Given the description of an element on the screen output the (x, y) to click on. 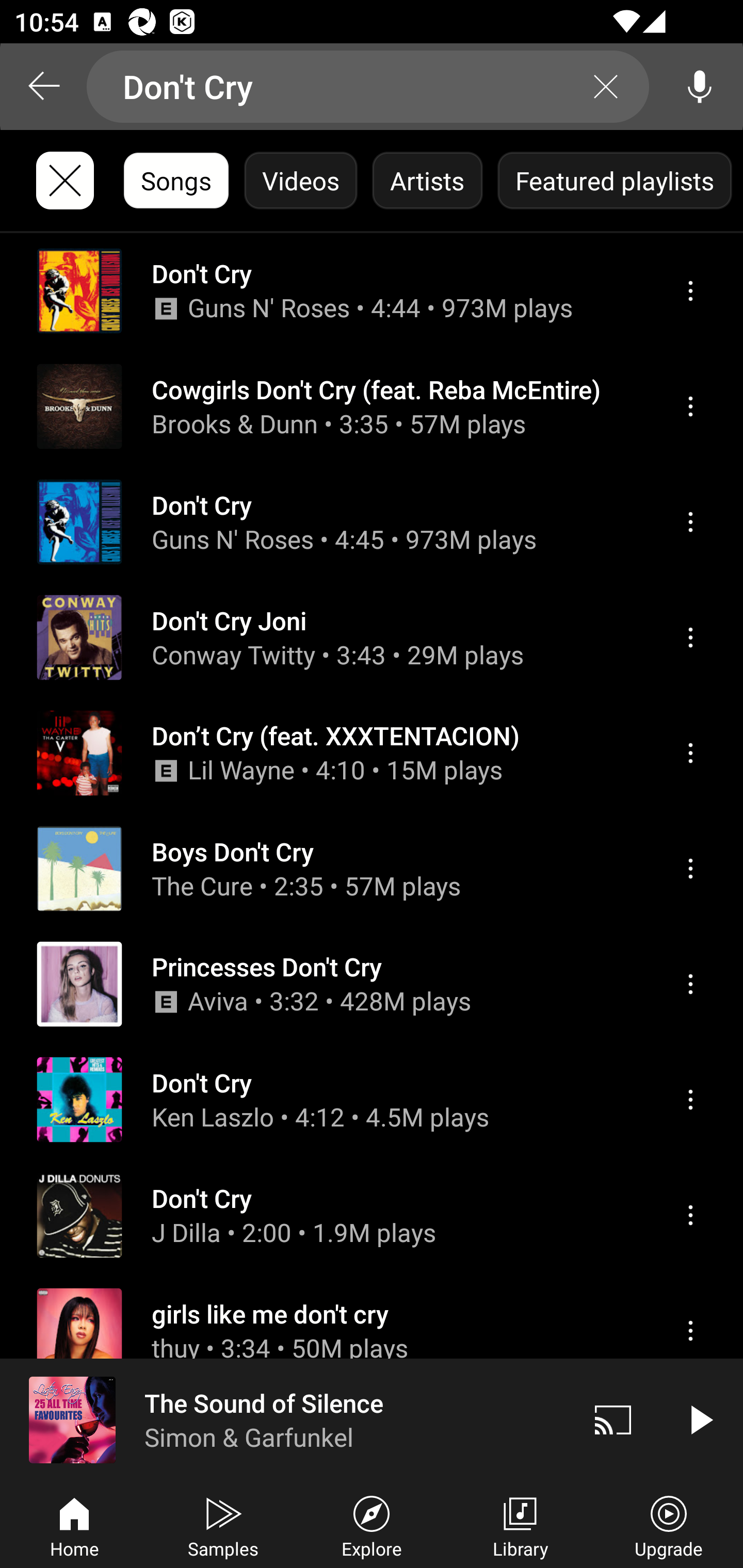
Search back (43, 86)
Don't Cry (367, 86)
Clear search (605, 86)
Voice search (699, 86)
Clear filters (64, 181)
Menu (690, 290)
Menu (690, 406)
Menu (690, 522)
Menu (690, 638)
Menu (690, 752)
Menu (690, 868)
Menu (690, 984)
Menu (690, 1099)
Menu (690, 1215)
Menu (690, 1331)
The Sound of Silence Simon & Garfunkel (284, 1419)
Cast. Disconnected (612, 1419)
Play video (699, 1419)
Home (74, 1524)
Samples (222, 1524)
Explore (371, 1524)
Library (519, 1524)
Upgrade (668, 1524)
